Given the description of an element on the screen output the (x, y) to click on. 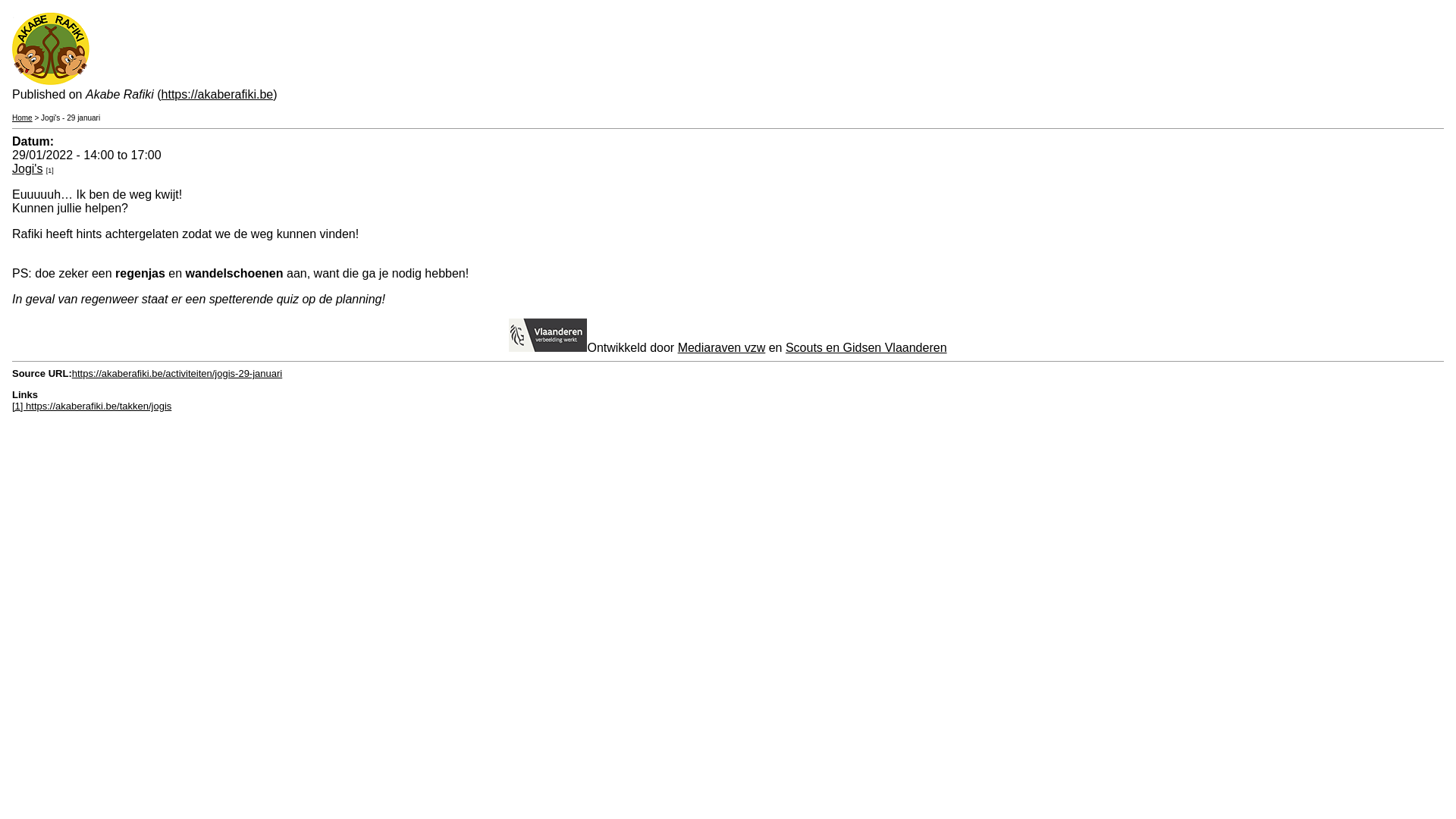
[1] https://akaberafiki.be/takken/jogis Element type: text (91, 405)
Home Element type: text (22, 117)
Jogi's Element type: text (27, 168)
https://akaberafiki.be/activiteiten/jogis-29-januari Element type: text (177, 373)
https://akaberafiki.be Element type: text (217, 93)
Scouts en Gidsen Vlaanderen Element type: text (866, 347)
Mediaraven vzw Element type: text (721, 347)
